Given the description of an element on the screen output the (x, y) to click on. 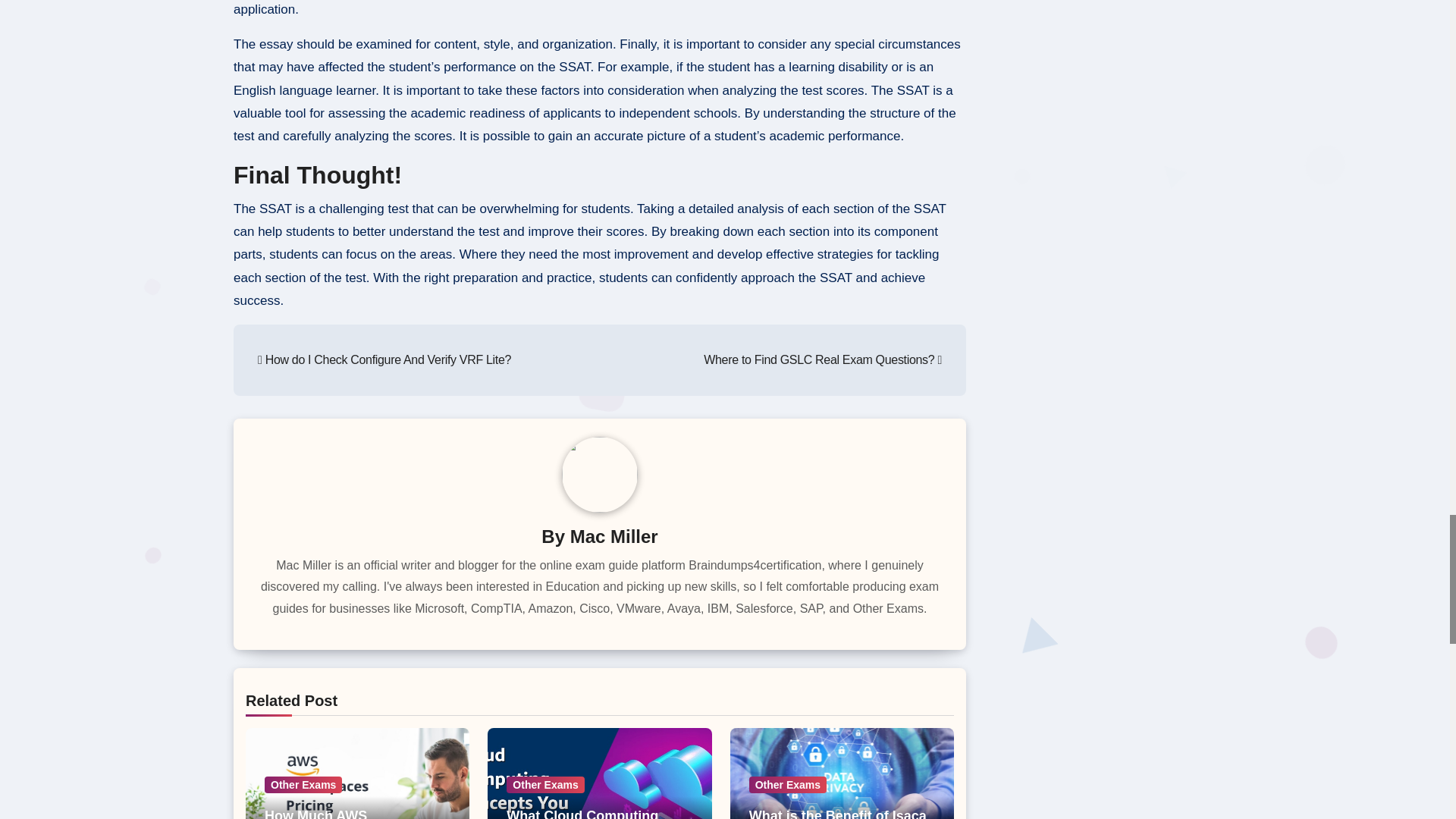
Mac Miller (614, 536)
Other Exams (303, 784)
Permalink to: How Much AWS Workspaces Pricing? (333, 813)
Permalink to: What Cloud Computing Concepts You Should Know? (583, 813)
How Much AWS Workspaces Pricing? (333, 813)
Where to Find GSLC Real Exam Questions? (822, 359)
Other Exams (544, 784)
Other Exams (788, 784)
How do I Check Configure And Verify VRF Lite? (384, 359)
What Cloud Computing Concepts You Should Know? (583, 813)
